Given the description of an element on the screen output the (x, y) to click on. 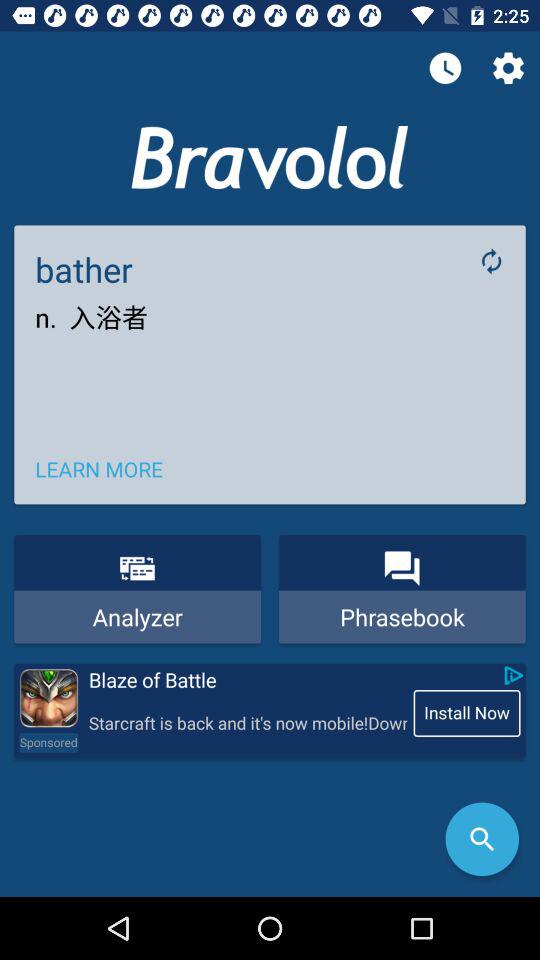
launch the blaze of battle icon (245, 680)
